Given the description of an element on the screen output the (x, y) to click on. 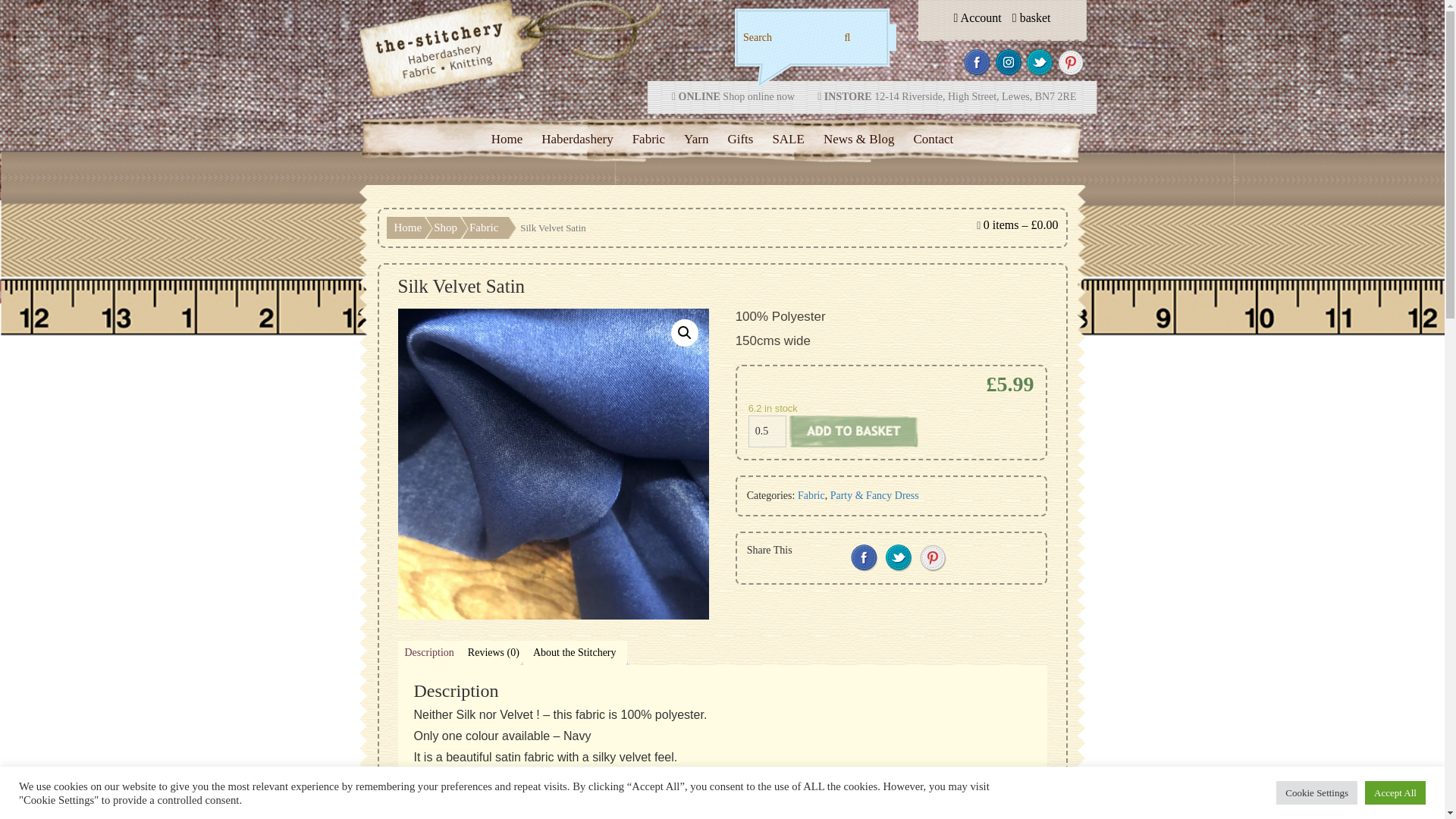
View your shopping cart (1021, 224)
Navy Silk Velvet Satin (553, 463)
Yarn (695, 138)
basket (1031, 17)
SALE (788, 138)
Shop online now (758, 96)
Home (507, 138)
My Account (977, 17)
Haberdashery (576, 138)
Fabric (648, 138)
